Given the description of an element on the screen output the (x, y) to click on. 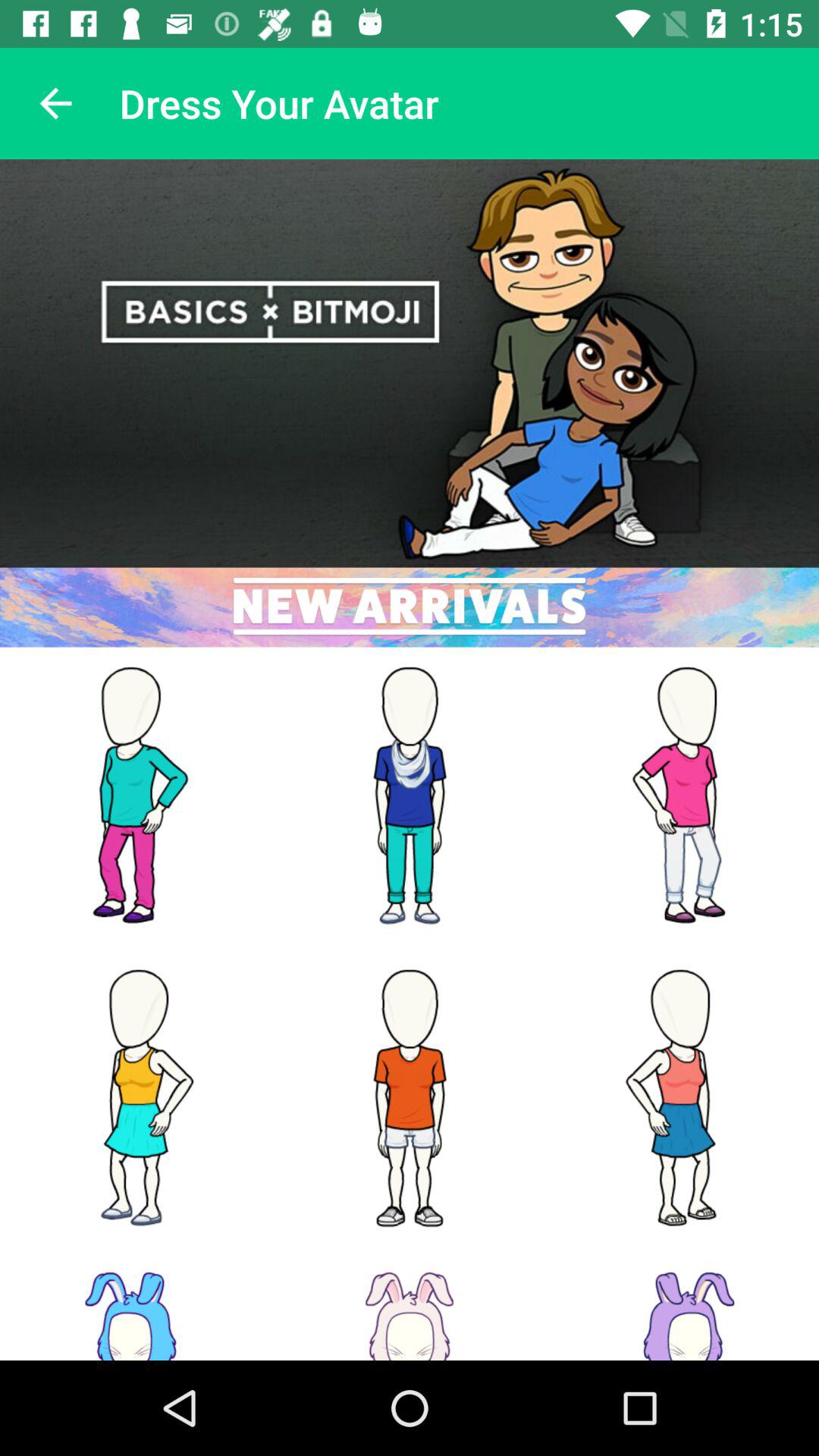
choose the item at the top left corner (55, 103)
